Given the description of an element on the screen output the (x, y) to click on. 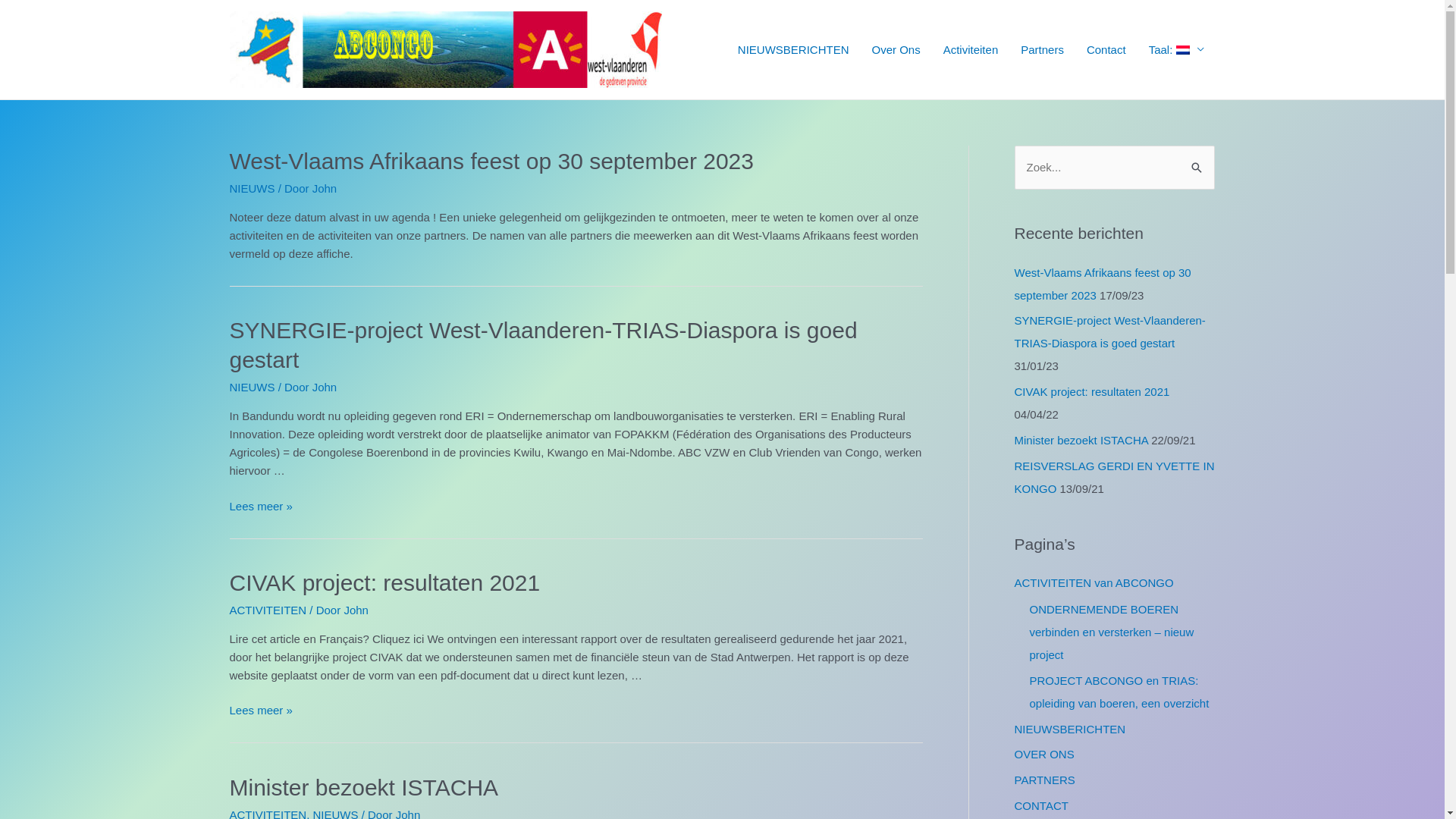
NIEUWS Element type: text (251, 386)
OVER ONS Element type: text (1044, 753)
NIEUWSBERICHTEN Element type: text (793, 48)
REISVERSLAG GERDI EN YVETTE IN KONGO Element type: text (1114, 477)
PARTNERS Element type: text (1044, 779)
Activiteiten Element type: text (970, 48)
John Element type: text (324, 386)
CONTACT Element type: text (1041, 805)
Taal:  Element type: text (1176, 48)
NIEUWS Element type: text (251, 188)
CIVAK project: resultaten 2021 Element type: text (384, 582)
John Element type: text (324, 188)
ACTIVITEITEN van ABCONGO Element type: text (1093, 582)
Partners Element type: text (1042, 48)
West-Vlaams Afrikaans feest op 30 september 2023 Element type: text (491, 160)
John Element type: text (355, 609)
West-Vlaams Afrikaans feest op 30 september 2023 Element type: text (1102, 283)
NIEUWSBERICHTEN Element type: text (1070, 727)
Minister bezoekt ISTACHA Element type: text (363, 787)
Contact Element type: text (1106, 48)
Over Ons Element type: text (895, 48)
Zoeken Element type: text (1196, 160)
Minister bezoekt ISTACHA Element type: text (1081, 439)
CIVAK project: resultaten 2021 Element type: text (1092, 391)
ACTIVITEITEN Element type: text (267, 609)
